Given the description of an element on the screen output the (x, y) to click on. 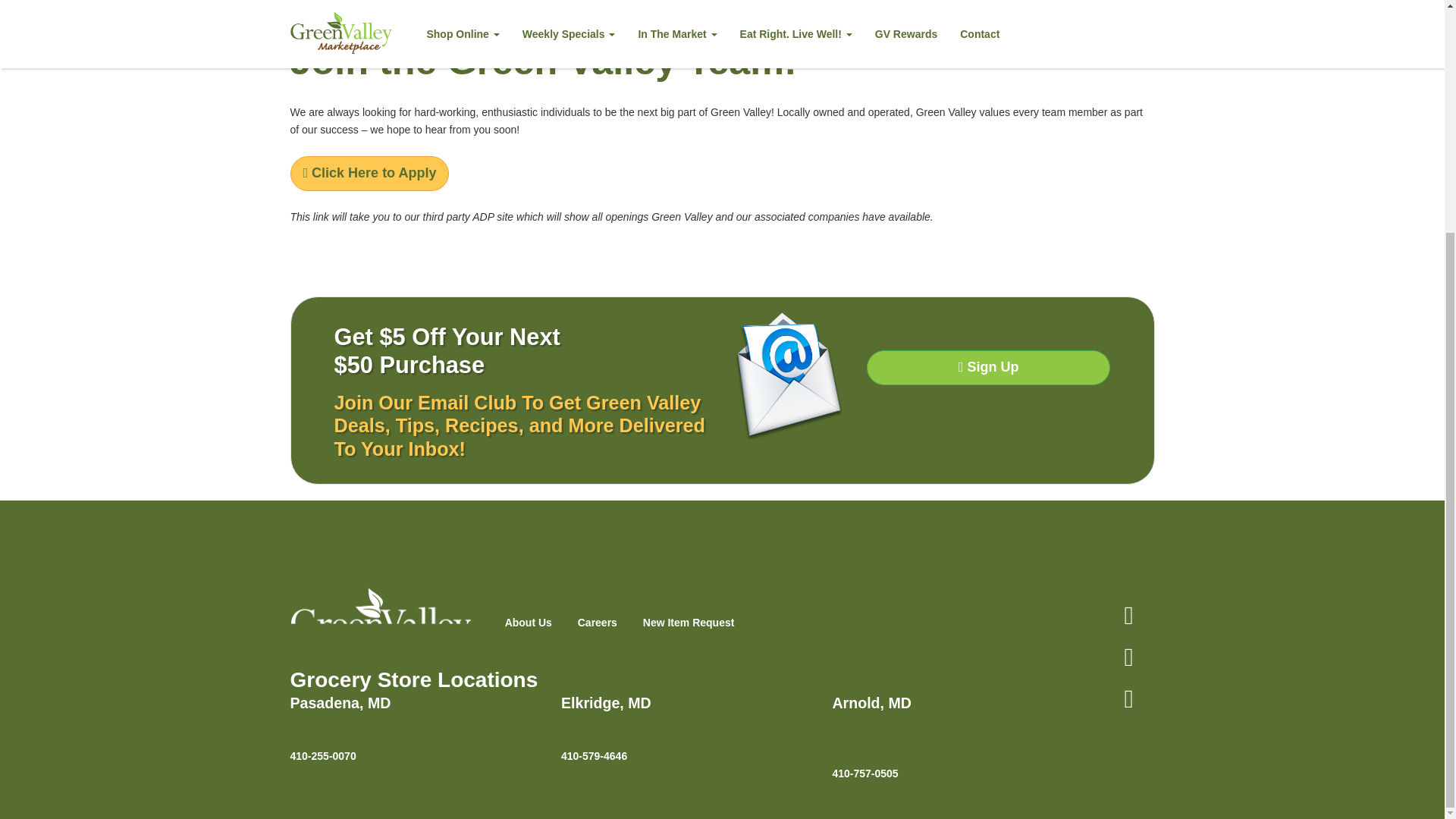
Sign Up (987, 367)
Click Here to Apply (368, 173)
About Us (528, 622)
